Given the description of an element on the screen output the (x, y) to click on. 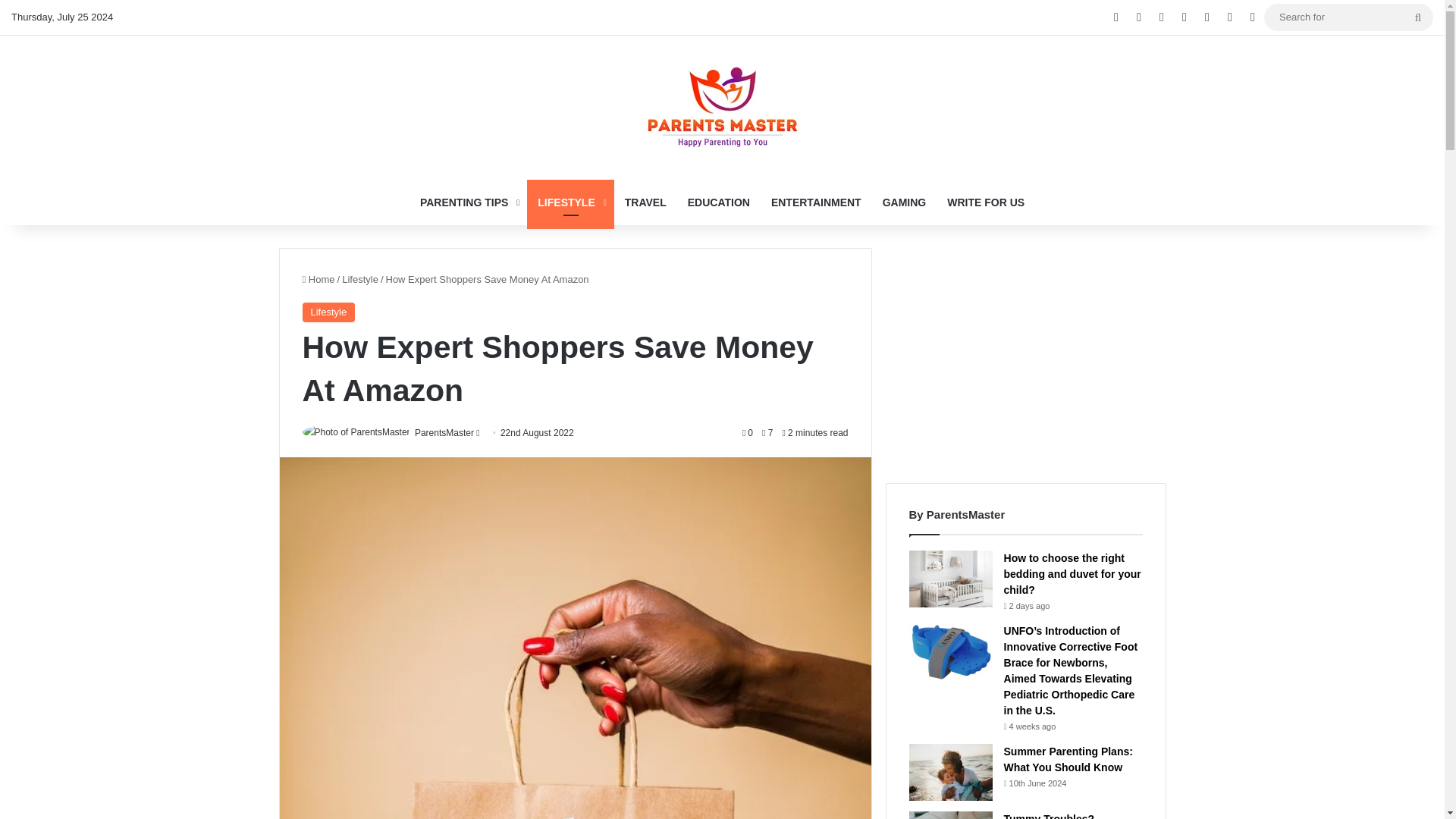
ENTERTAINMENT (816, 201)
TRAVEL (645, 201)
GAMING (904, 201)
Lifestyle (328, 311)
WRITE FOR US (985, 201)
Search for (1417, 17)
Advertisement (1025, 353)
Search for (1347, 16)
Lifestyle (360, 278)
EDUCATION (718, 201)
LIFESTYLE (569, 201)
Home (317, 278)
PARENTING TIPS (468, 201)
Parents Master (721, 106)
